Given the description of an element on the screen output the (x, y) to click on. 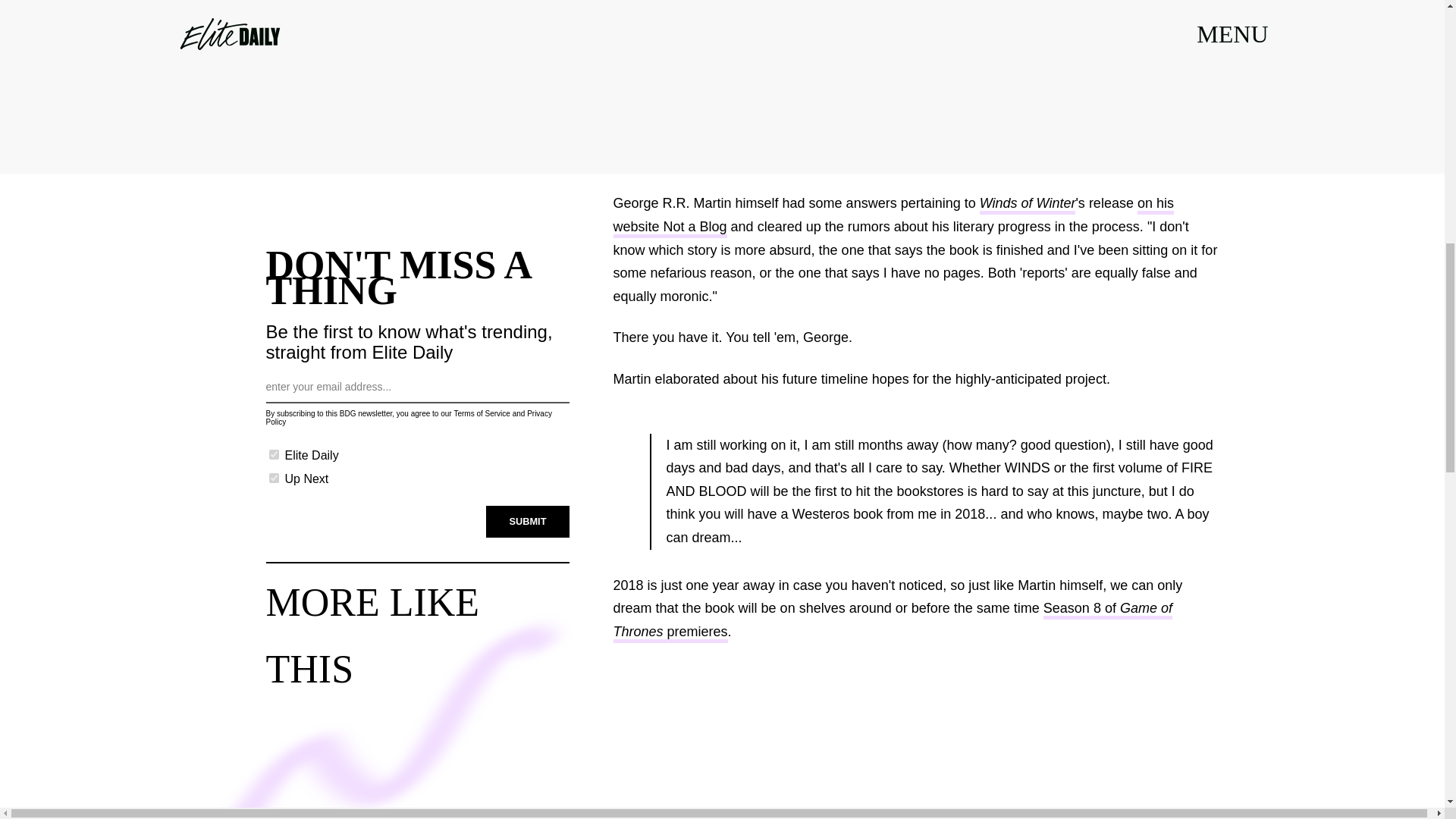
Terms of Service (480, 413)
Winds of Winter (1027, 204)
Game of Thrones (892, 621)
SUBMIT (527, 521)
on his website Not a Blog (892, 216)
Season 8 of (1081, 609)
premieres (695, 633)
Privacy Policy (407, 417)
